Given the description of an element on the screen output the (x, y) to click on. 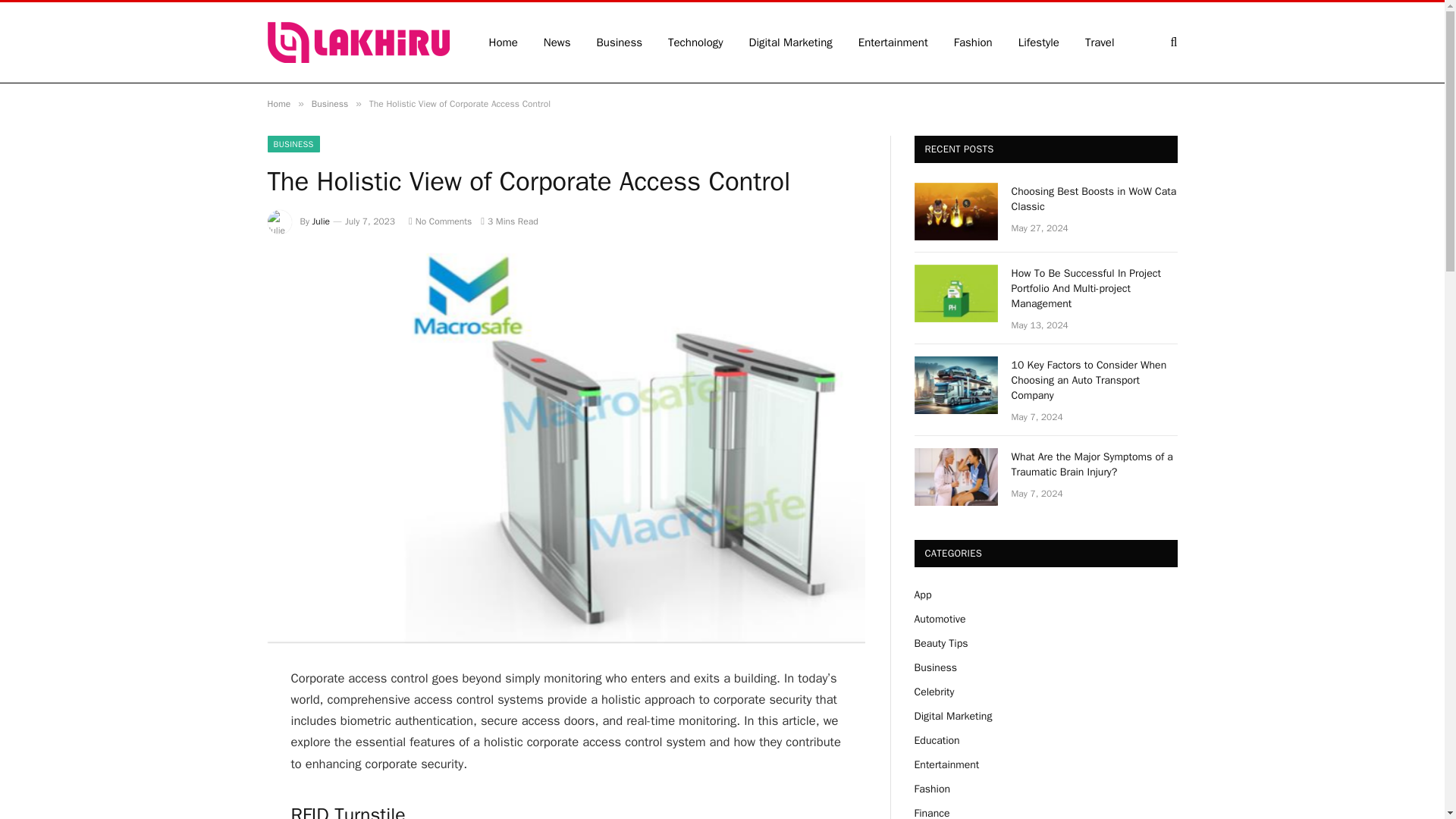
No Comments (440, 221)
Julie (321, 221)
Digital Marketing (790, 42)
Lakhiru.com (357, 42)
Choosing Best Boosts in WoW Cata Classic (955, 211)
BUSINESS (292, 143)
Home (277, 103)
Business (329, 103)
Choosing Best Boosts in WoW Cata Classic (1094, 199)
